Given the description of an element on the screen output the (x, y) to click on. 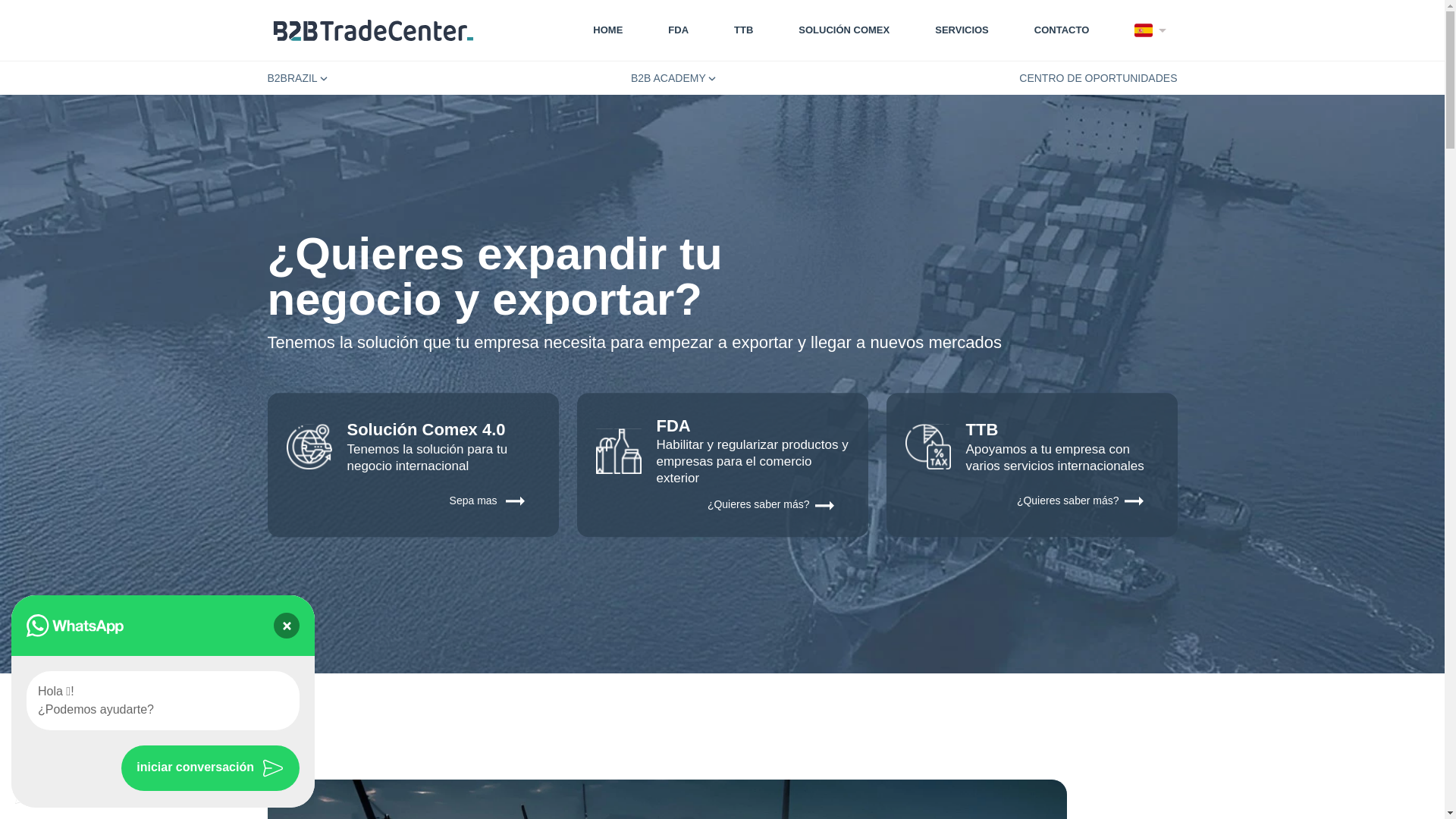
SERVICIOS Element type: text (961, 30)
TTB Element type: text (743, 30)
B2B ACADEMY Element type: text (672, 78)
CONTACTO Element type: text (1061, 30)
B2BRAZIL Element type: text (296, 78)
Sepa mas Element type: text (412, 501)
HOME Element type: text (603, 30)
CENTRO DE OPORTUNIDADES Element type: text (1097, 78)
FDA Element type: text (677, 30)
